Given the description of an element on the screen output the (x, y) to click on. 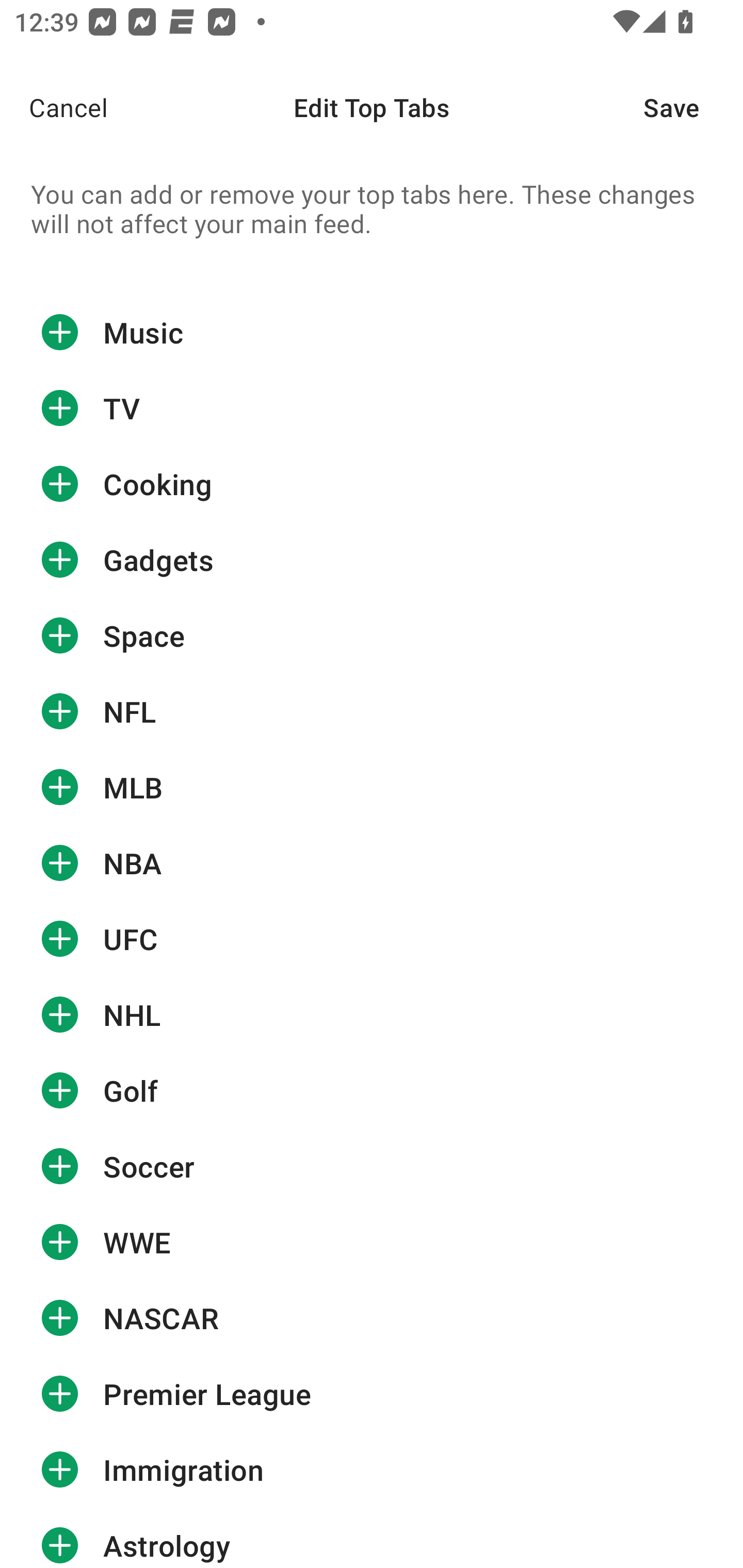
Cancel (53, 106)
Save (693, 106)
Music (371, 332)
TV (371, 408)
Cooking (371, 484)
Gadgets (371, 559)
Space (371, 635)
NFL (371, 711)
MLB (371, 786)
NBA (371, 862)
UFC (371, 938)
NHL (371, 1014)
Golf (371, 1090)
Soccer (371, 1166)
WWE (371, 1241)
NASCAR (371, 1317)
Premier League (371, 1393)
Immigration (371, 1469)
Astrology (371, 1538)
